Given the description of an element on the screen output the (x, y) to click on. 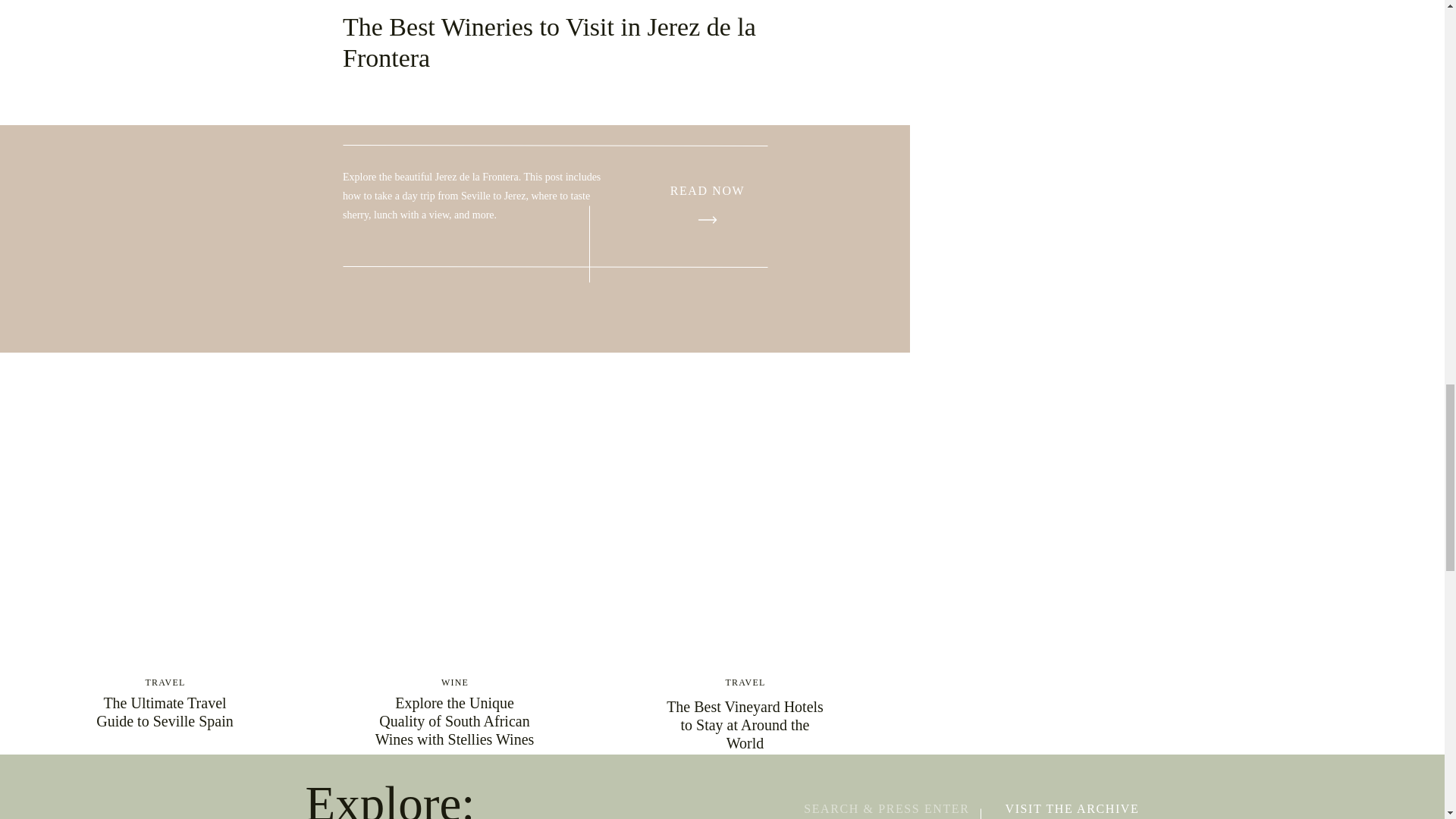
The Ultimate Travel Guide to Seville Spain (164, 711)
The Best Wineries to Visit in Jerez de la Frontera (548, 42)
TRAVEL (745, 682)
The Best Wineries to Visit in Jerez de la Frontera (707, 219)
The Best Wineries to Visit in Jerez de la Frontera (707, 191)
TRAVEL (165, 682)
READ NOW (707, 191)
The Best Vineyard Hotels to Stay at Around the World (745, 724)
WINE (454, 682)
